Given the description of an element on the screen output the (x, y) to click on. 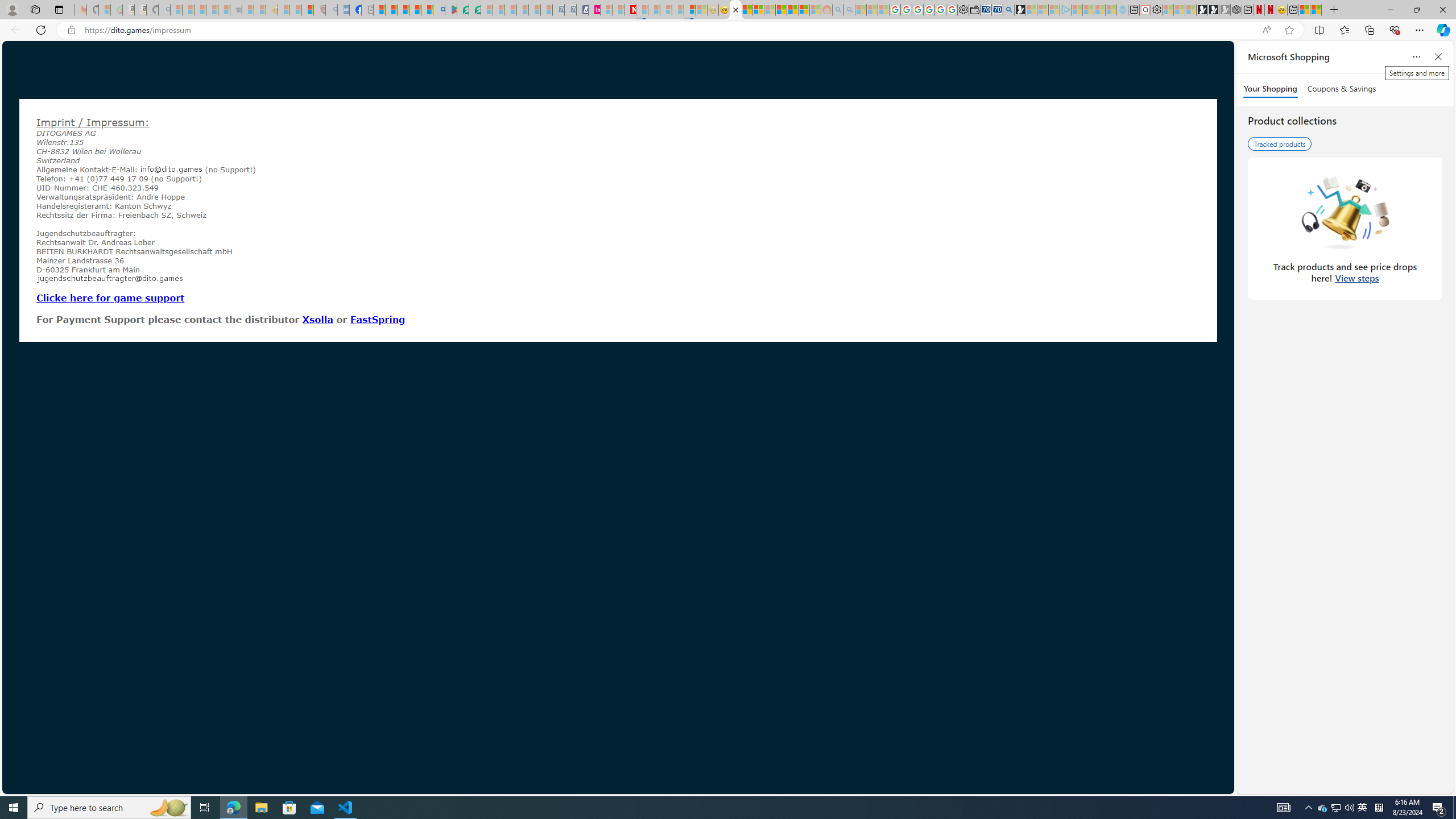
Jobs - lastminute.com Investor Portal (594, 9)
